Given the description of an element on the screen output the (x, y) to click on. 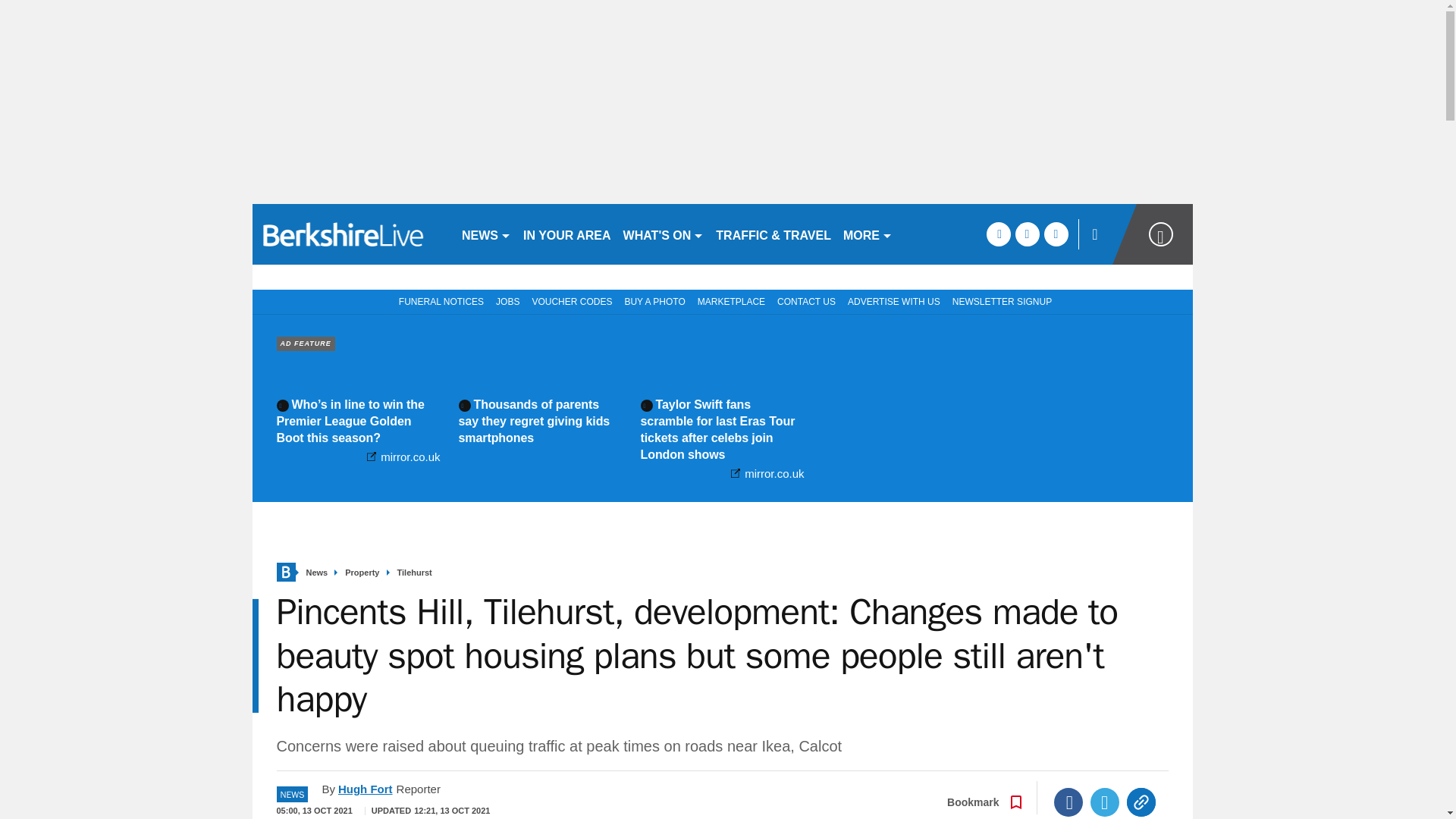
MORE (867, 233)
WHAT'S ON (663, 233)
IN YOUR AREA (566, 233)
twitter (1026, 233)
Twitter (1104, 801)
Facebook (1068, 801)
facebook (997, 233)
NEWS (485, 233)
instagram (1055, 233)
getreading (349, 233)
